Given the description of an element on the screen output the (x, y) to click on. 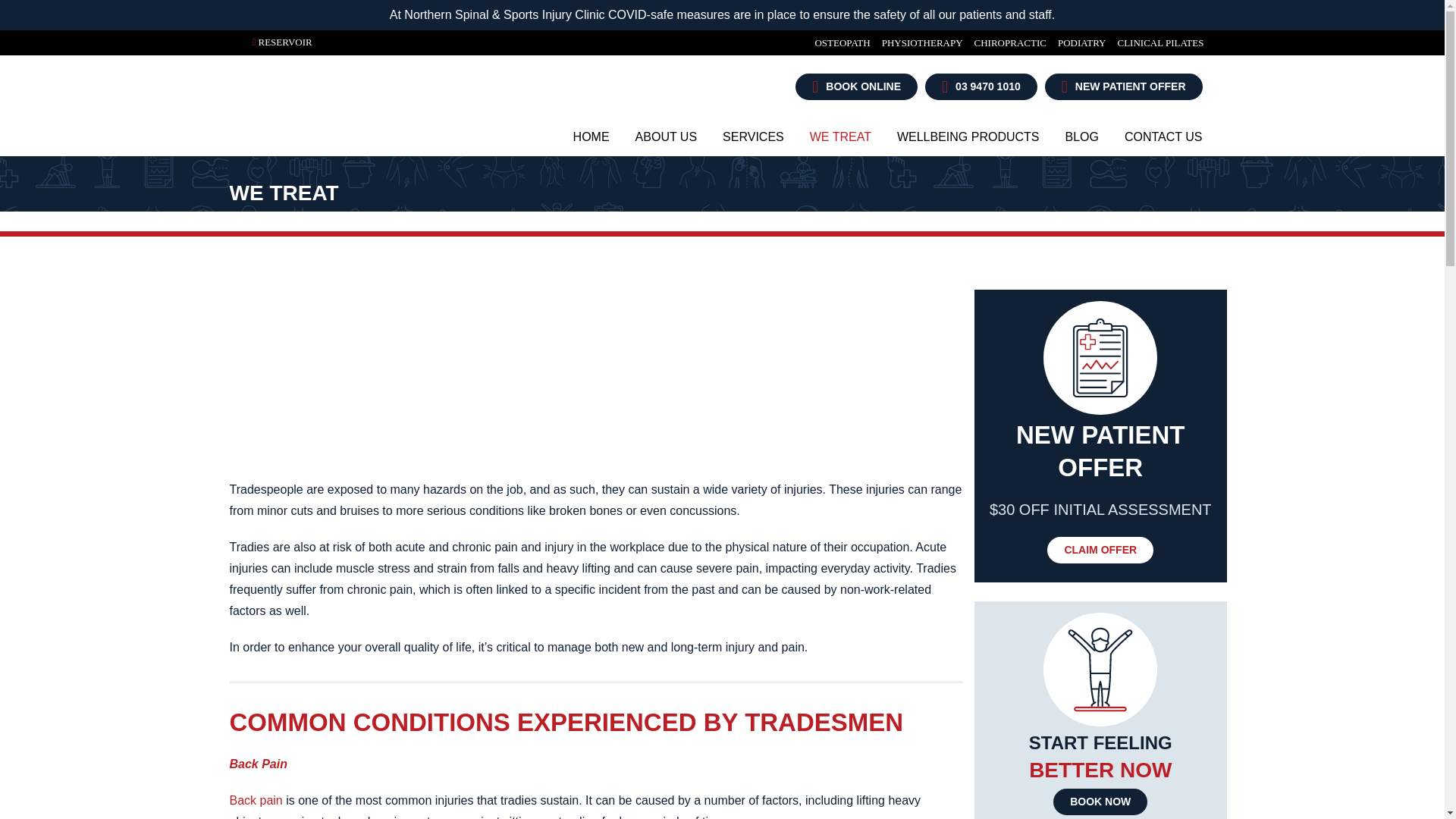
Back Pain (255, 799)
CHIROPRACTIC (1004, 42)
NEW PATIENT OFFER (1123, 86)
03 9470 1010 (980, 86)
WE TREAT (839, 136)
SERVICES (753, 136)
RESERVOIR (284, 41)
CLINICAL PILATES (1154, 42)
PHYSIOTHERAPY (916, 42)
HOME (591, 136)
